Given the description of an element on the screen output the (x, y) to click on. 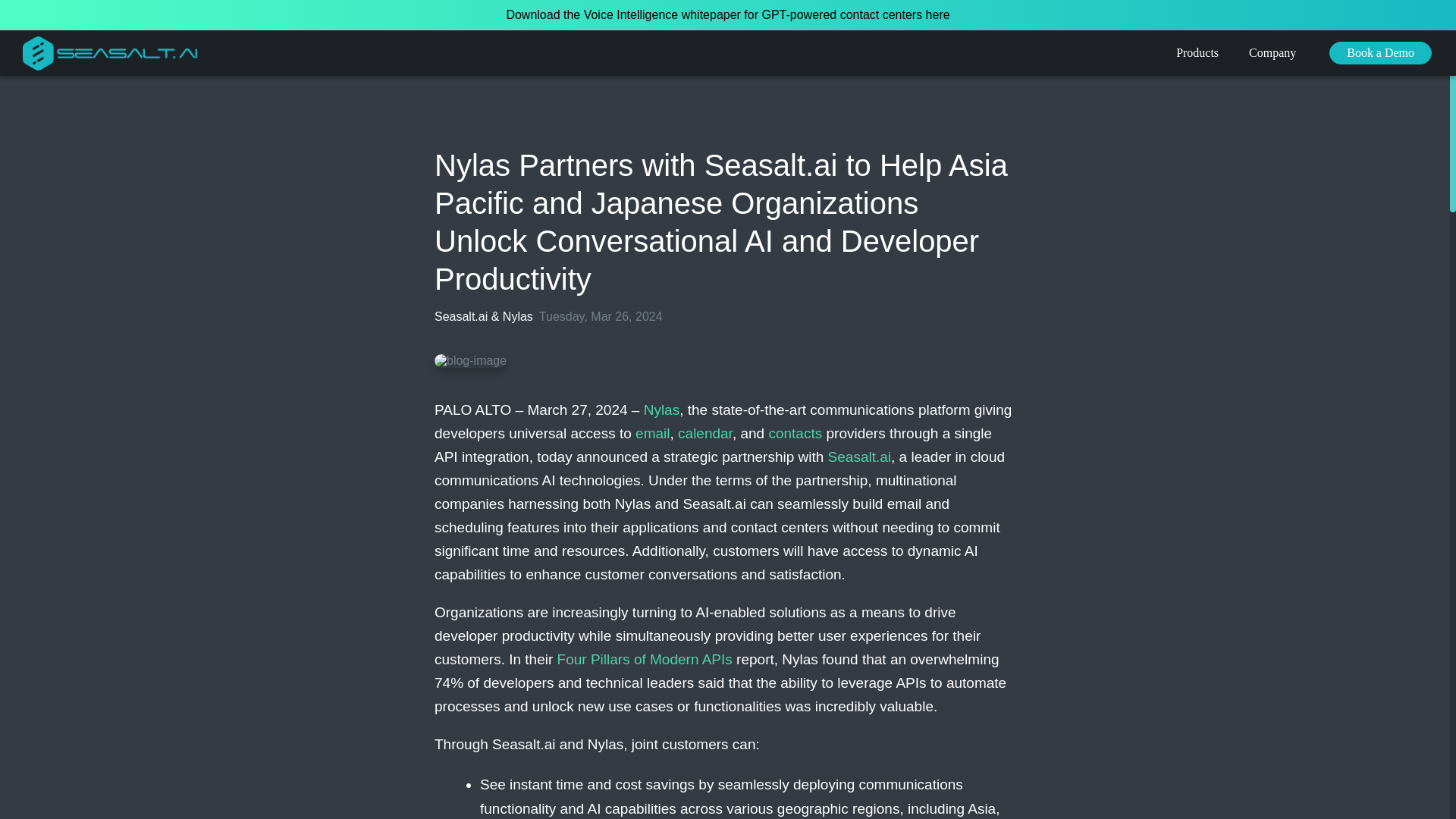
Four Pillars of Modern APIs (644, 659)
calendar (705, 433)
Nylas (661, 409)
Book a Demo (1380, 52)
Seasalt.ai (859, 456)
contacts (795, 433)
email (651, 433)
